Given the description of an element on the screen output the (x, y) to click on. 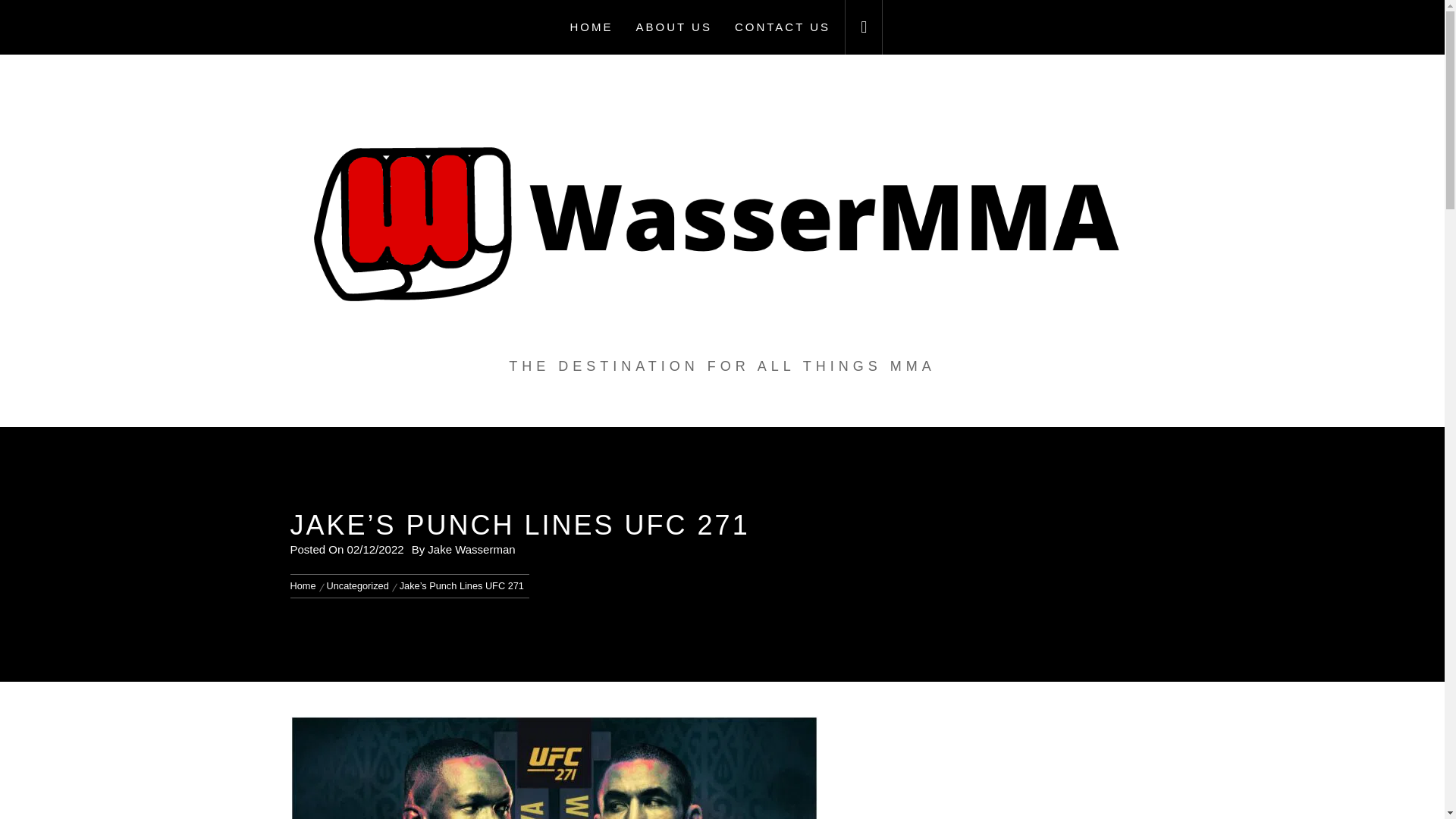
CONTACT US (782, 27)
HOME (591, 27)
Jake Wasserman (471, 549)
Home (304, 585)
Search (797, 408)
ABOUT US (673, 27)
Uncategorized (357, 585)
